Given the description of an element on the screen output the (x, y) to click on. 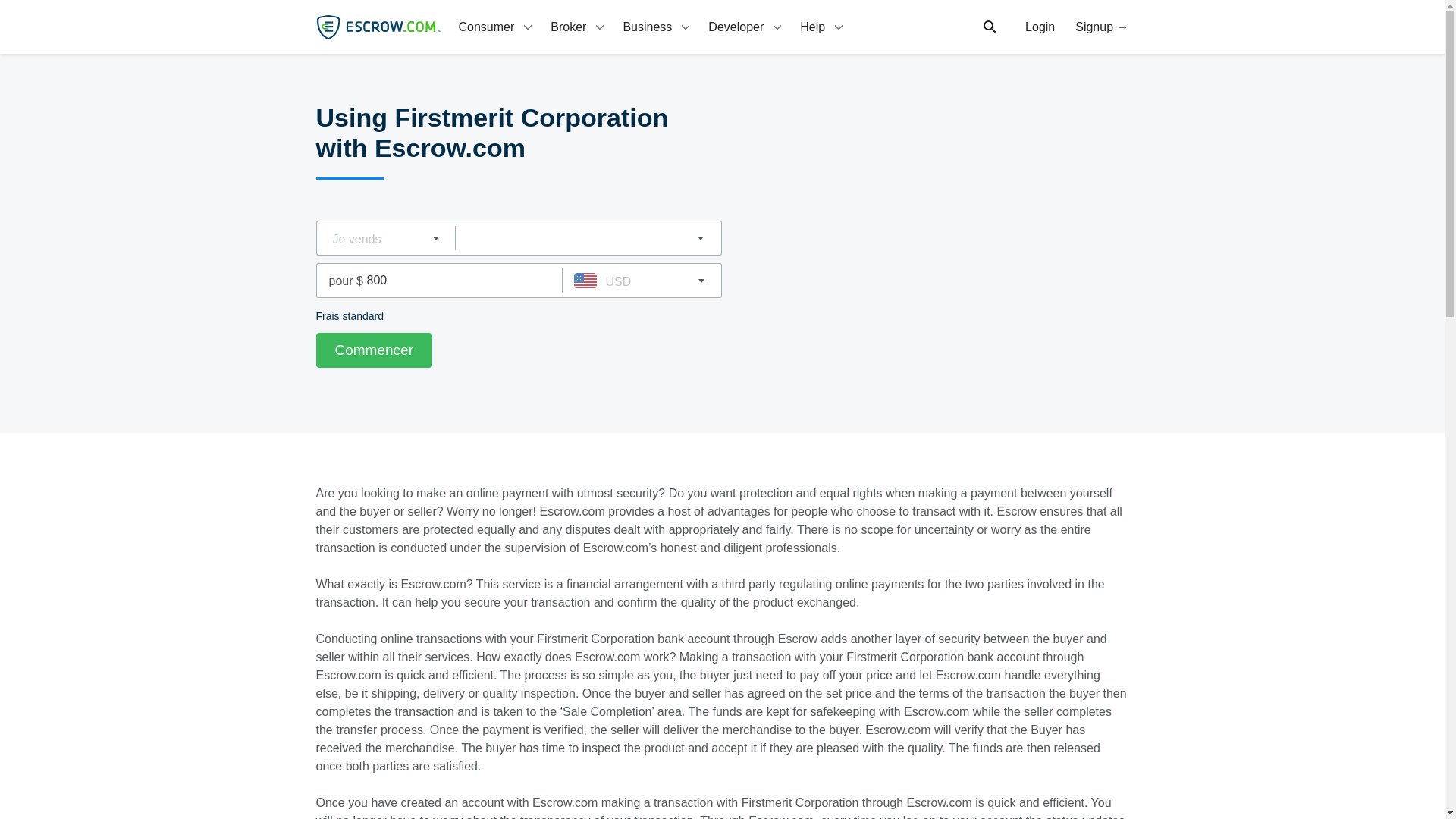
Go to home page (378, 27)
800 (462, 280)
